Given the description of an element on the screen output the (x, y) to click on. 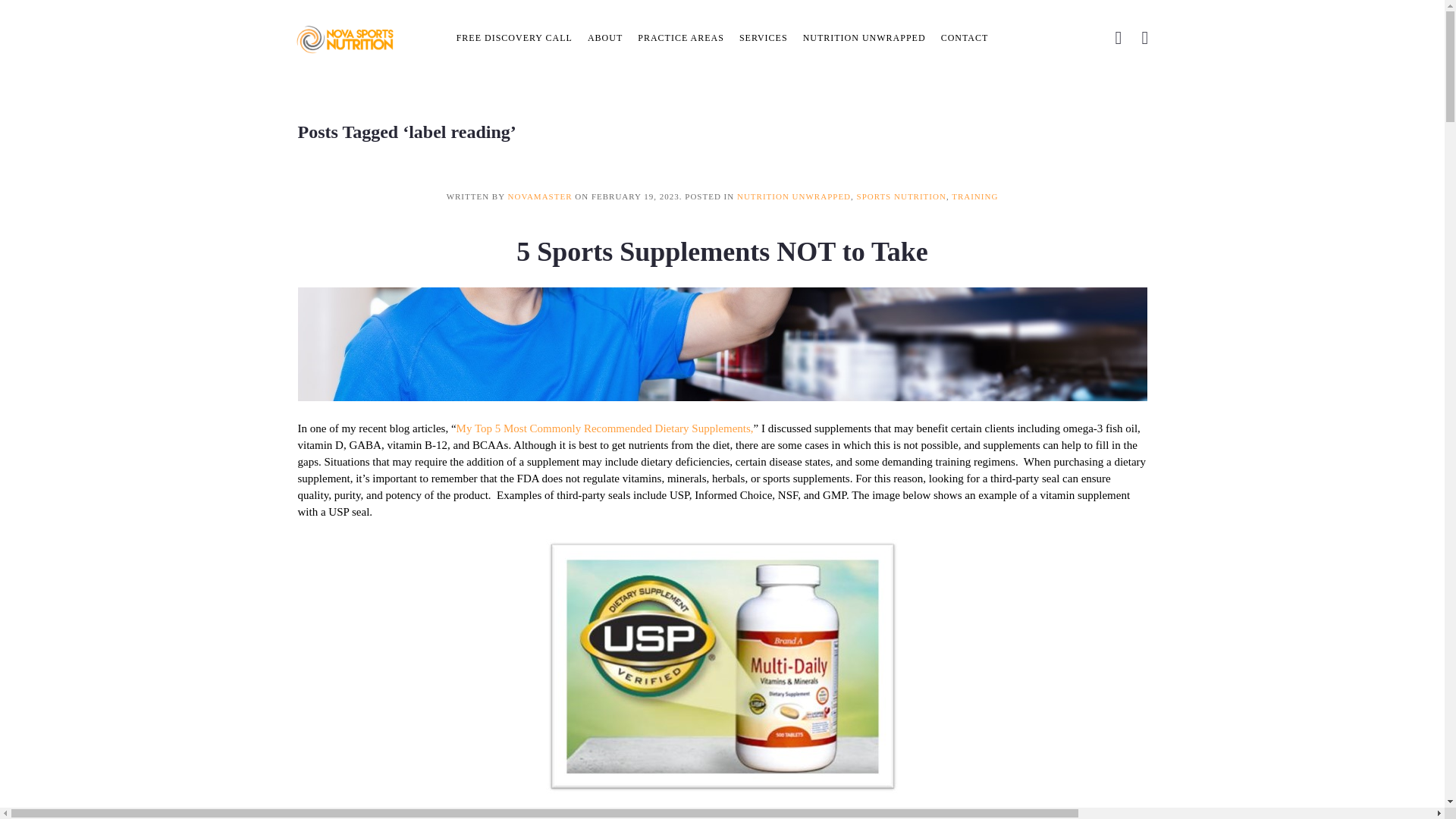
NUTRITION UNWRAPPED (793, 195)
PRACTICE AREAS (681, 38)
NovaMaster (540, 195)
TRAINING (974, 195)
5 Sports Supplements NOT to Take (721, 251)
SPORTS NUTRITION (901, 195)
NUTRITION UNWRAPPED (863, 38)
FREE DISCOVERY CALL (513, 38)
5 Sports Supplements NOT to Take (721, 251)
My Top 5 Most Commonly Recommended Dietary Supplements, (605, 428)
NOVAMASTER (540, 195)
USP label on vitamins (722, 665)
